Given the description of an element on the screen output the (x, y) to click on. 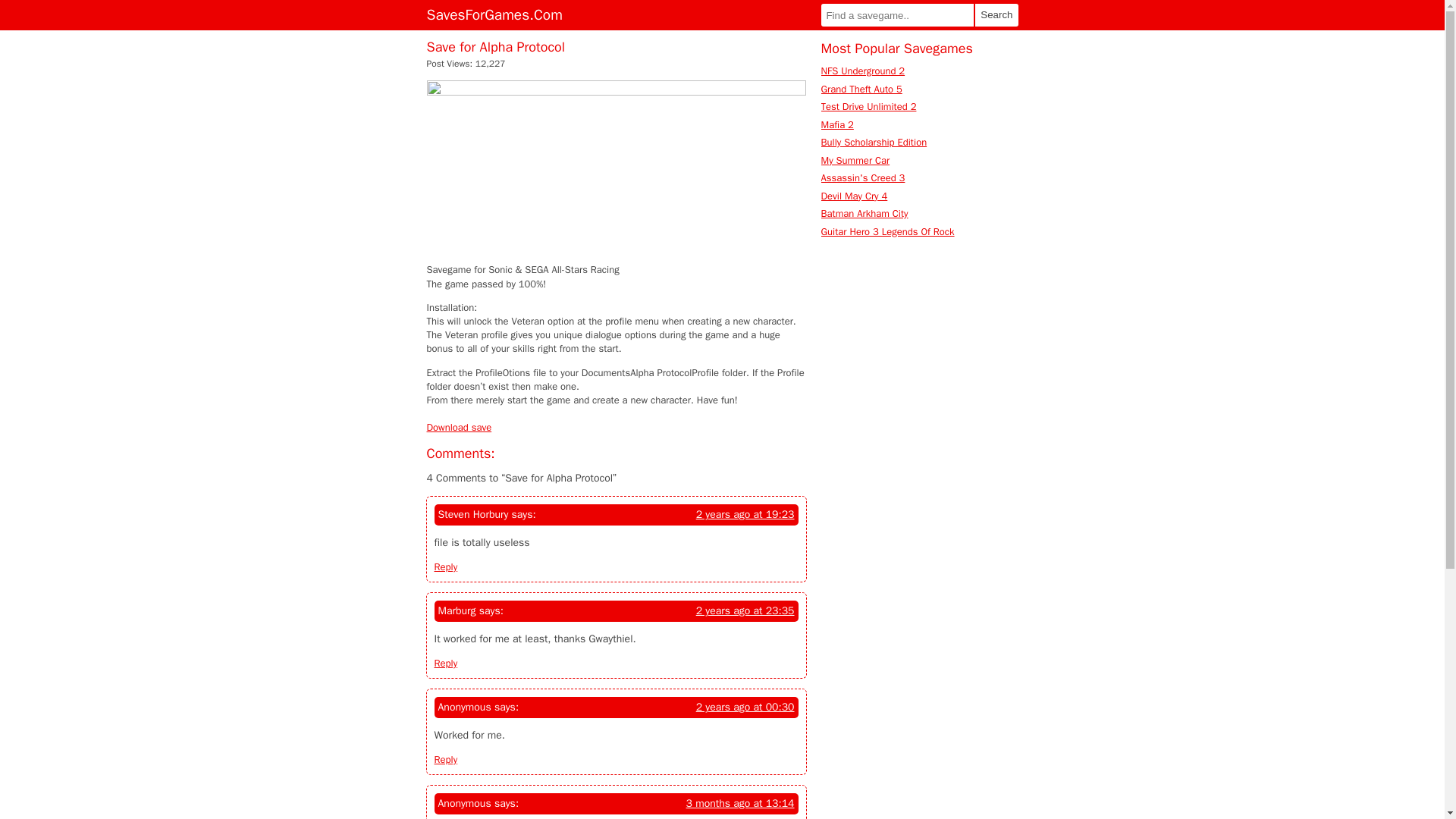
Home page (494, 14)
3 months ago at 13:14 (739, 803)
2 years ago at 19:23 (744, 514)
My Summer Car (855, 159)
SavesForGames.Com (494, 14)
Mafia 2 (837, 124)
Test Drive Unlimited 2 (868, 106)
Batman Arkham City (864, 213)
Bully Scholarship Edition (873, 141)
Grand Theft Auto 5 (861, 88)
